Given the description of an element on the screen output the (x, y) to click on. 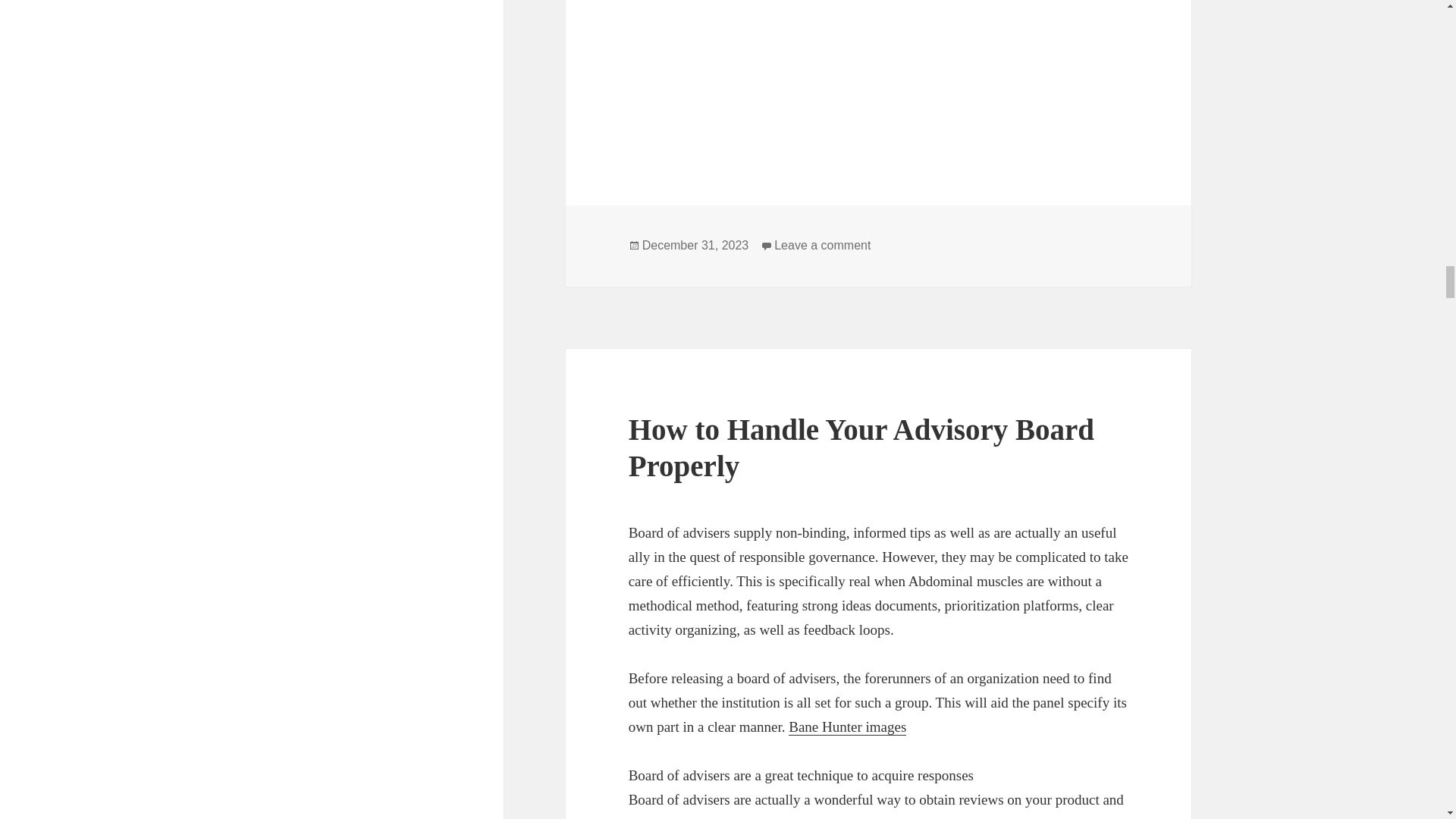
Bane Hunter images (847, 727)
December 31, 2023 (695, 245)
How to Handle Your Advisory Board Properly (861, 447)
